Given the description of an element on the screen output the (x, y) to click on. 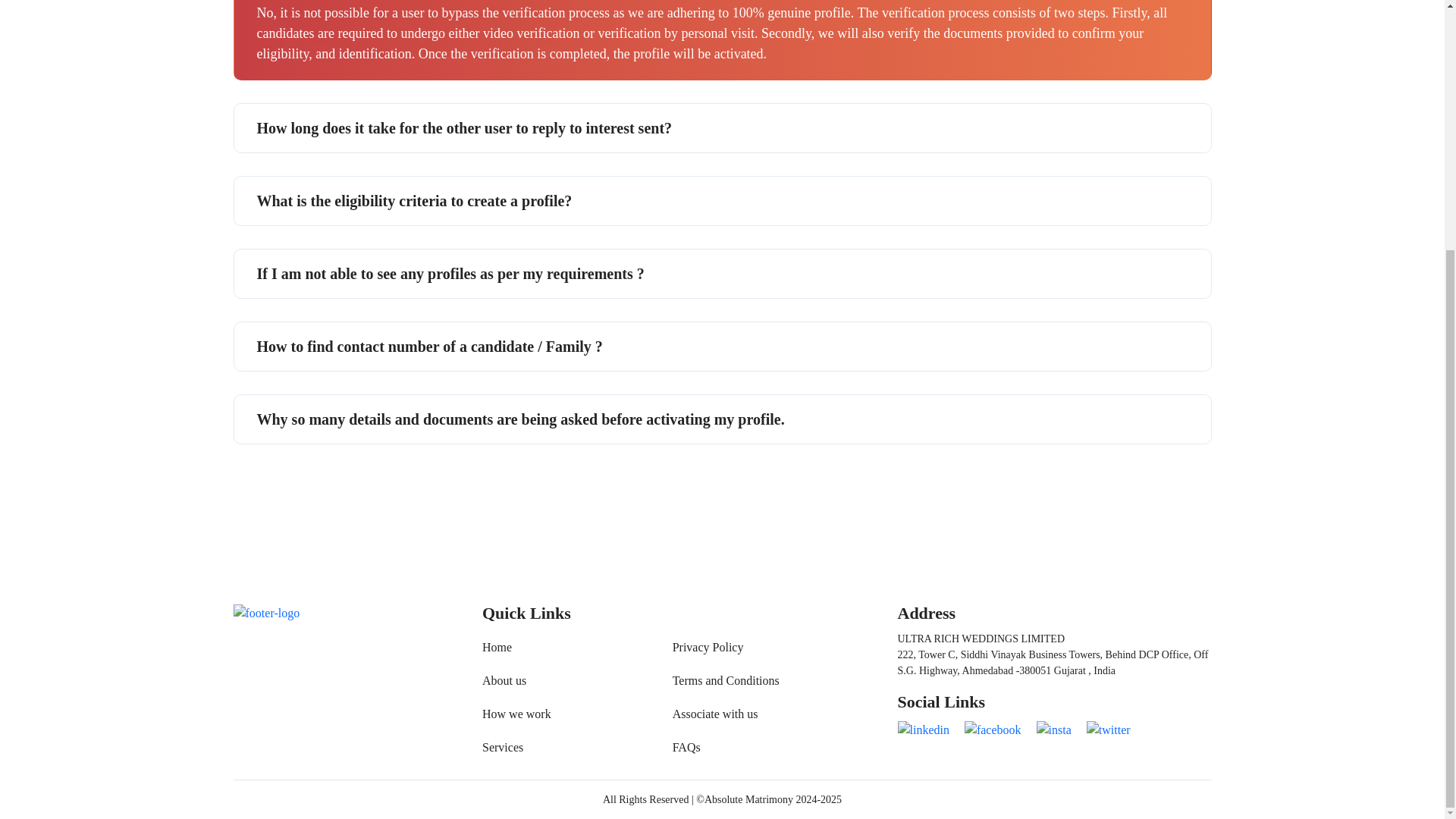
Privacy Policy (725, 647)
Terms and Conditions (725, 680)
How we work (516, 714)
FAQs (725, 747)
Services (516, 747)
What is the eligibility criteria to create a profile? (720, 200)
